Given the description of an element on the screen output the (x, y) to click on. 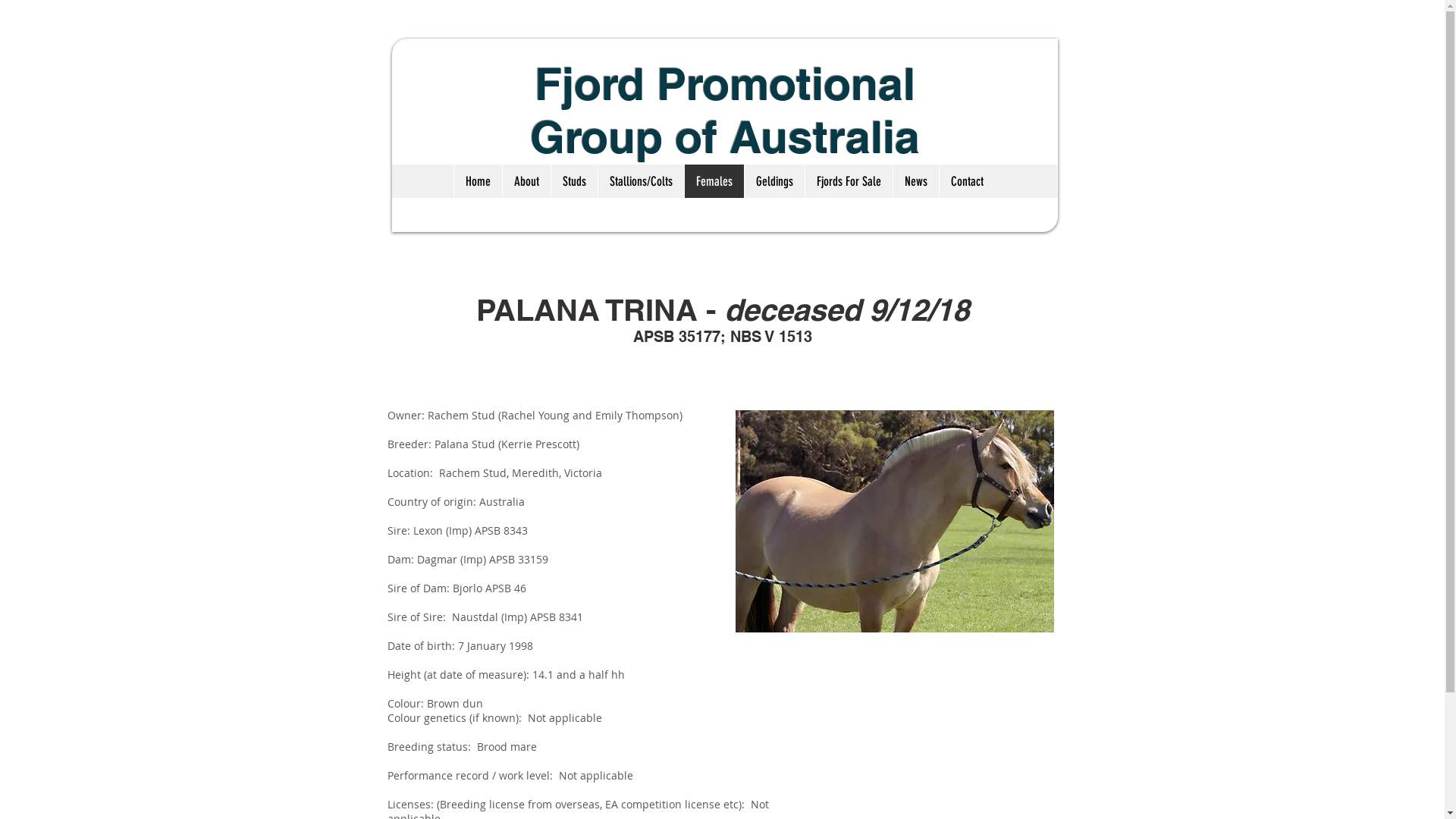
News Element type: text (915, 180)
Fjords For Sale Element type: text (848, 180)
Contact Element type: text (966, 180)
Females Element type: text (713, 180)
Stallions/Colts Element type: text (640, 180)
Geldings Element type: text (773, 180)
Studs Element type: text (573, 180)
About Element type: text (526, 180)
Home Element type: text (477, 180)
Palana Trina.jpg Element type: hover (894, 521)
